Given the description of an element on the screen output the (x, y) to click on. 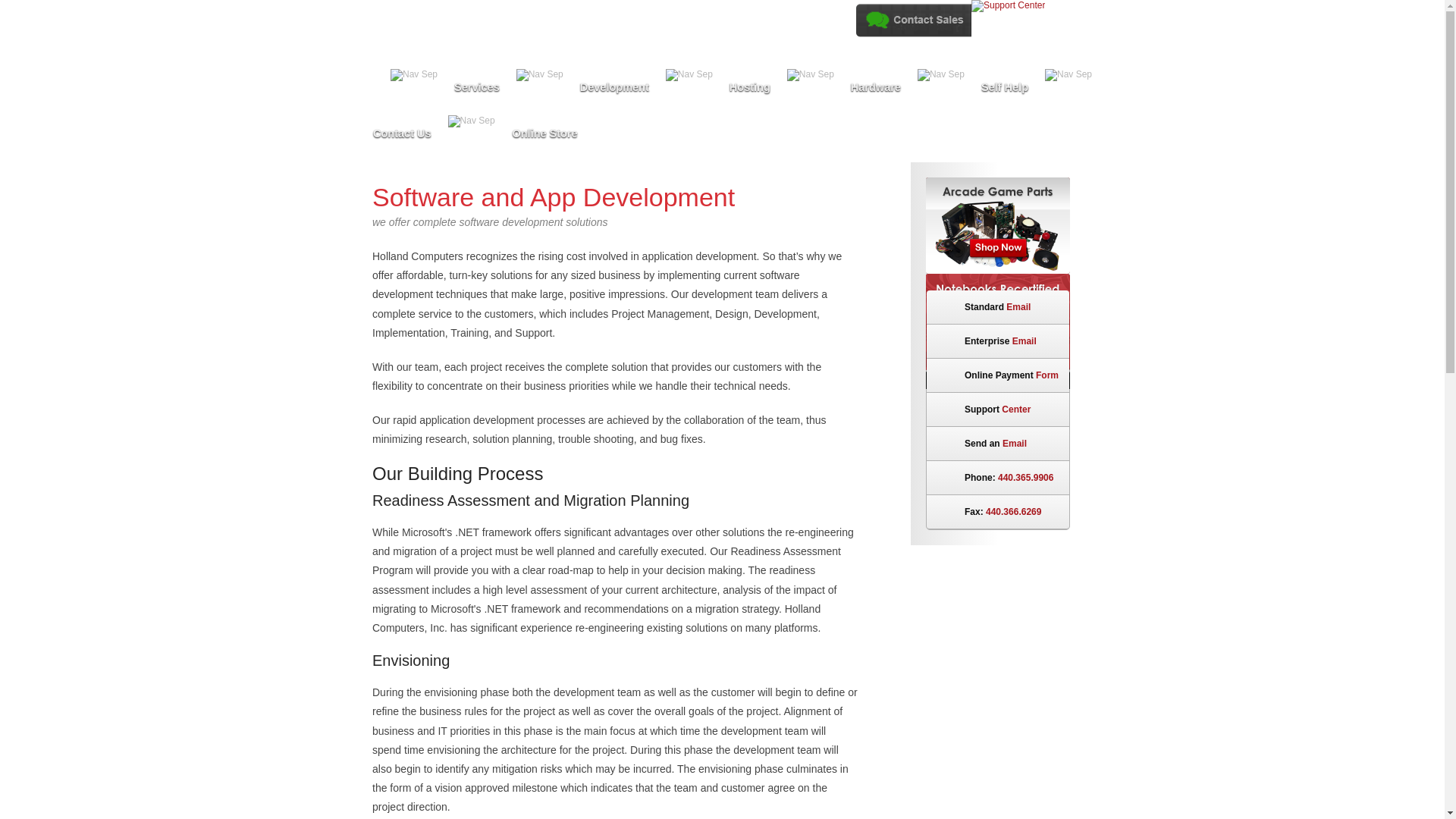
Holland Computers - multiple solutions... one company (506, 33)
Hosting (750, 90)
Services (477, 90)
Development (614, 90)
Support Center (1008, 6)
Contact Sales (912, 20)
Hardware (875, 90)
